Given the description of an element on the screen output the (x, y) to click on. 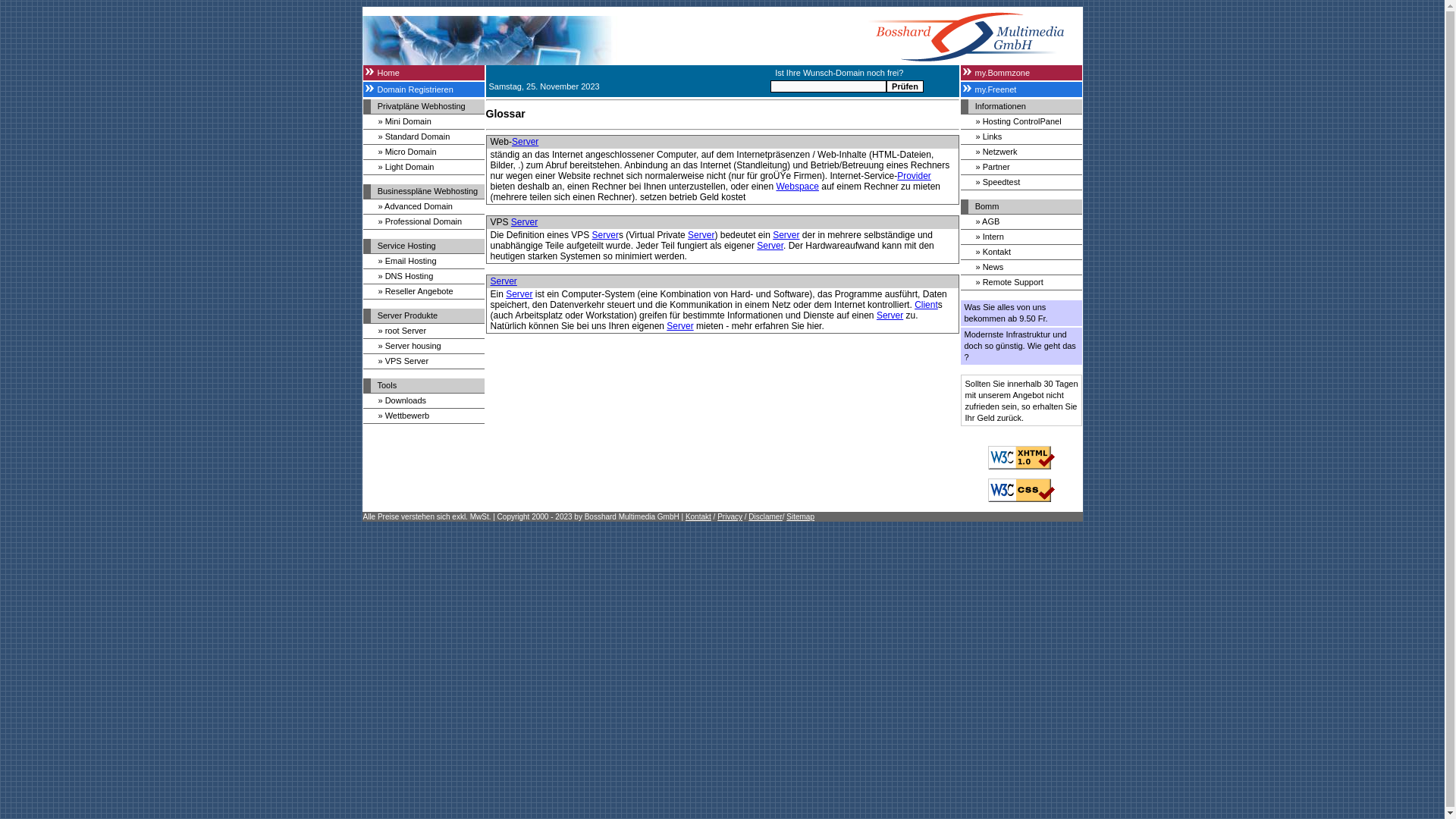
Server Element type: text (518, 293)
Server Element type: text (524, 221)
my.Freenet Element type: text (1020, 89)
Kontakt Element type: text (698, 516)
Home Element type: text (422, 72)
Server Element type: text (679, 325)
Privacy Element type: text (729, 516)
Domain Registrieren Element type: text (422, 89)
Server Element type: text (700, 234)
Server Element type: text (889, 315)
Webspace Element type: text (796, 186)
Was Sie alles von uns bekommen ab 9.50 Fr. Element type: text (1020, 313)
Server Element type: text (605, 234)
Server Element type: text (524, 141)
Disclamer Element type: text (764, 516)
Server Element type: text (502, 281)
my.Bommzone Element type: text (1020, 72)
Client Element type: text (926, 304)
Sitemap Element type: text (800, 516)
Server Element type: text (785, 234)
Provider Element type: text (914, 175)
Server Element type: text (769, 245)
